Given the description of an element on the screen output the (x, y) to click on. 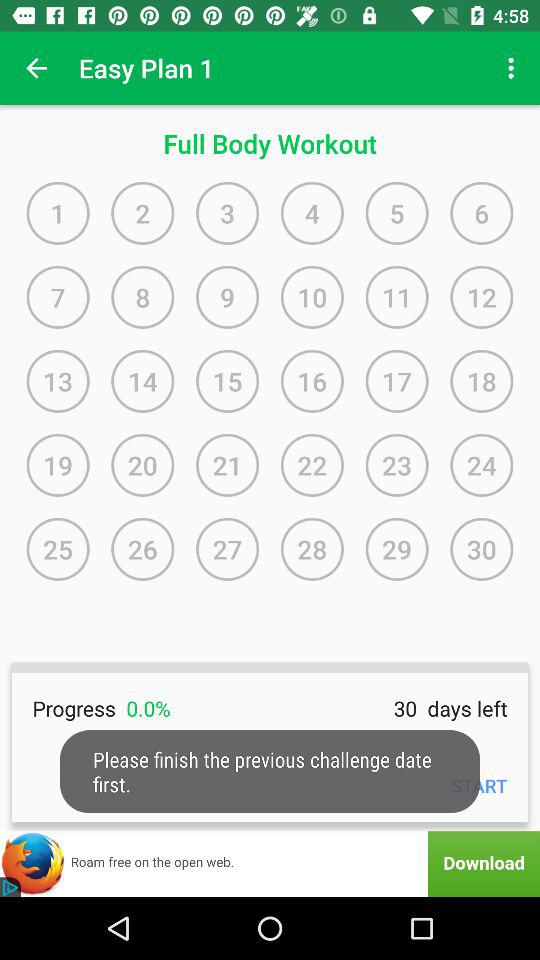
download this extension (270, 864)
